Given the description of an element on the screen output the (x, y) to click on. 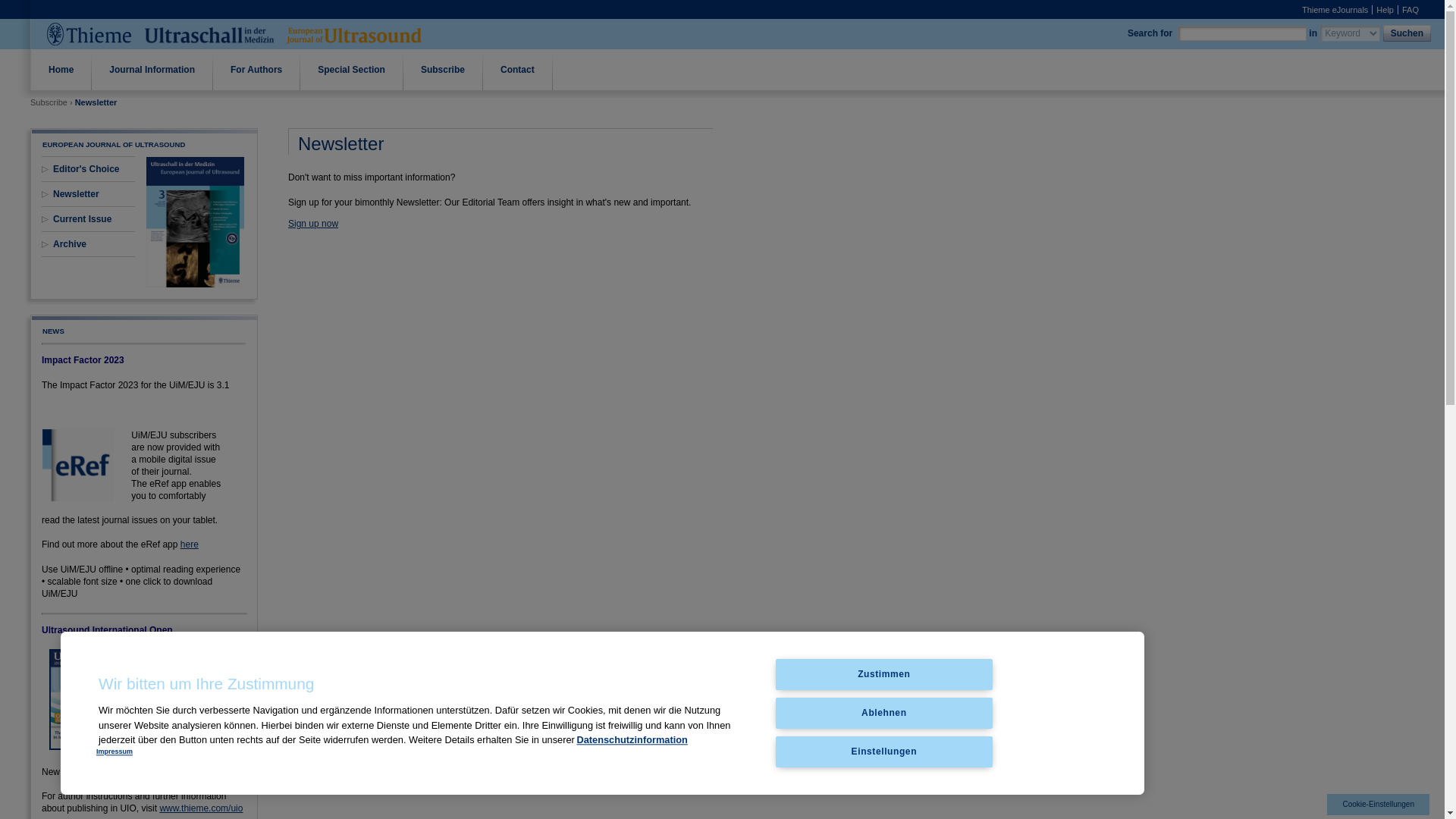
Current Issue (82, 218)
Contact (517, 69)
Sign up now (312, 223)
Home (61, 69)
Newsletter (75, 194)
here (189, 543)
Suchen (1408, 33)
Help (1384, 9)
Thieme eJournals (1334, 9)
Special Section (351, 69)
For Authors (256, 69)
Archive (68, 244)
FAQ (1410, 9)
Subscribe (442, 69)
Editor's Choice (85, 168)
